Given the description of an element on the screen output the (x, y) to click on. 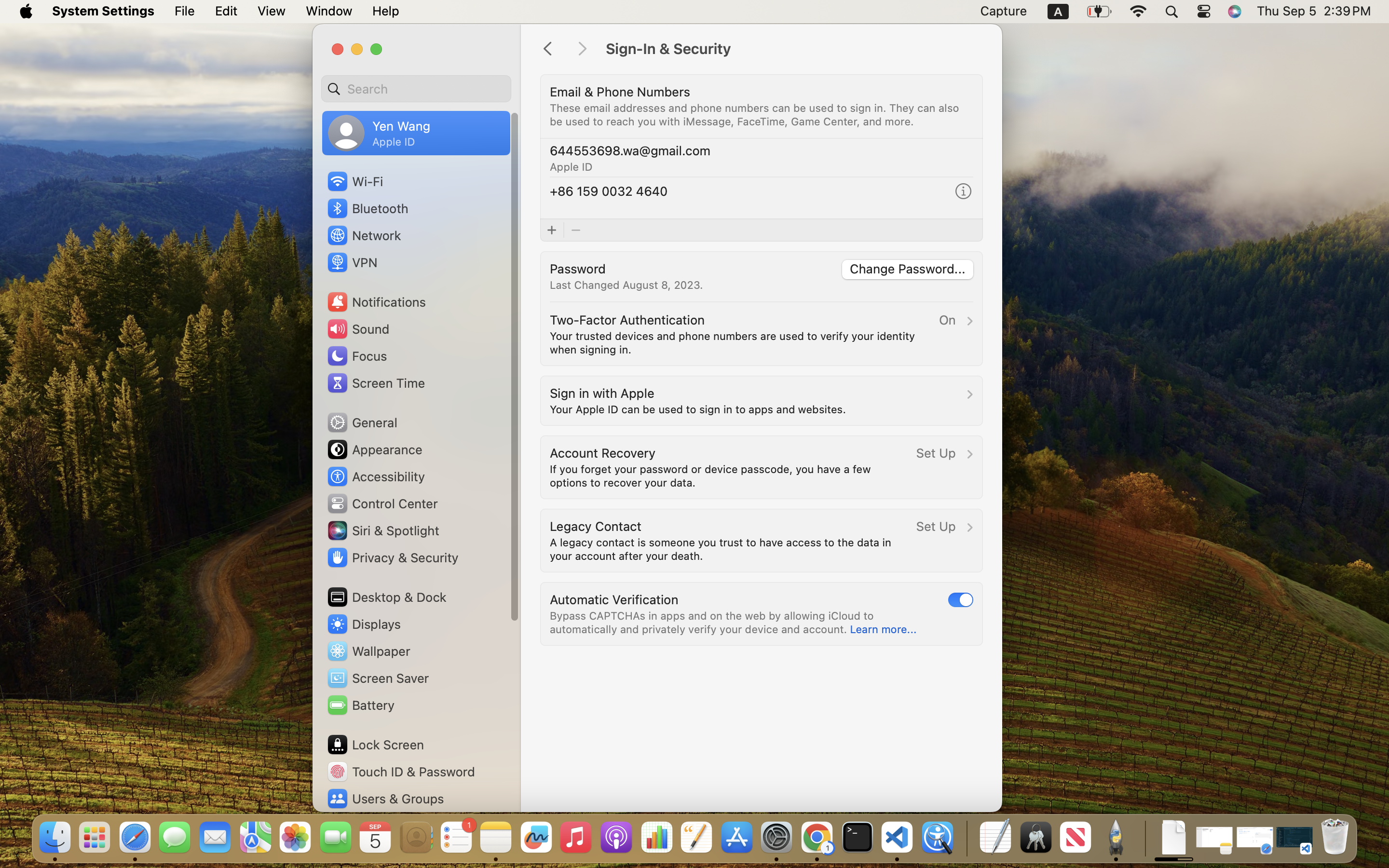
Password Element type: AXStaticText (577, 267)
Bypass CAPTCHAs in apps and on the web by allowing iCloud to automatically and privately verify your device and account. Learn more... Automatic Verification Element type: AXGroup (761, 614)
0.4285714328289032 Element type: AXDockItem (1143, 837)
215.0 Element type: AXSplitter (519, 443)
Last Changed August 8, 2023. Element type: AXStaticText (626, 284)
